Given the description of an element on the screen output the (x, y) to click on. 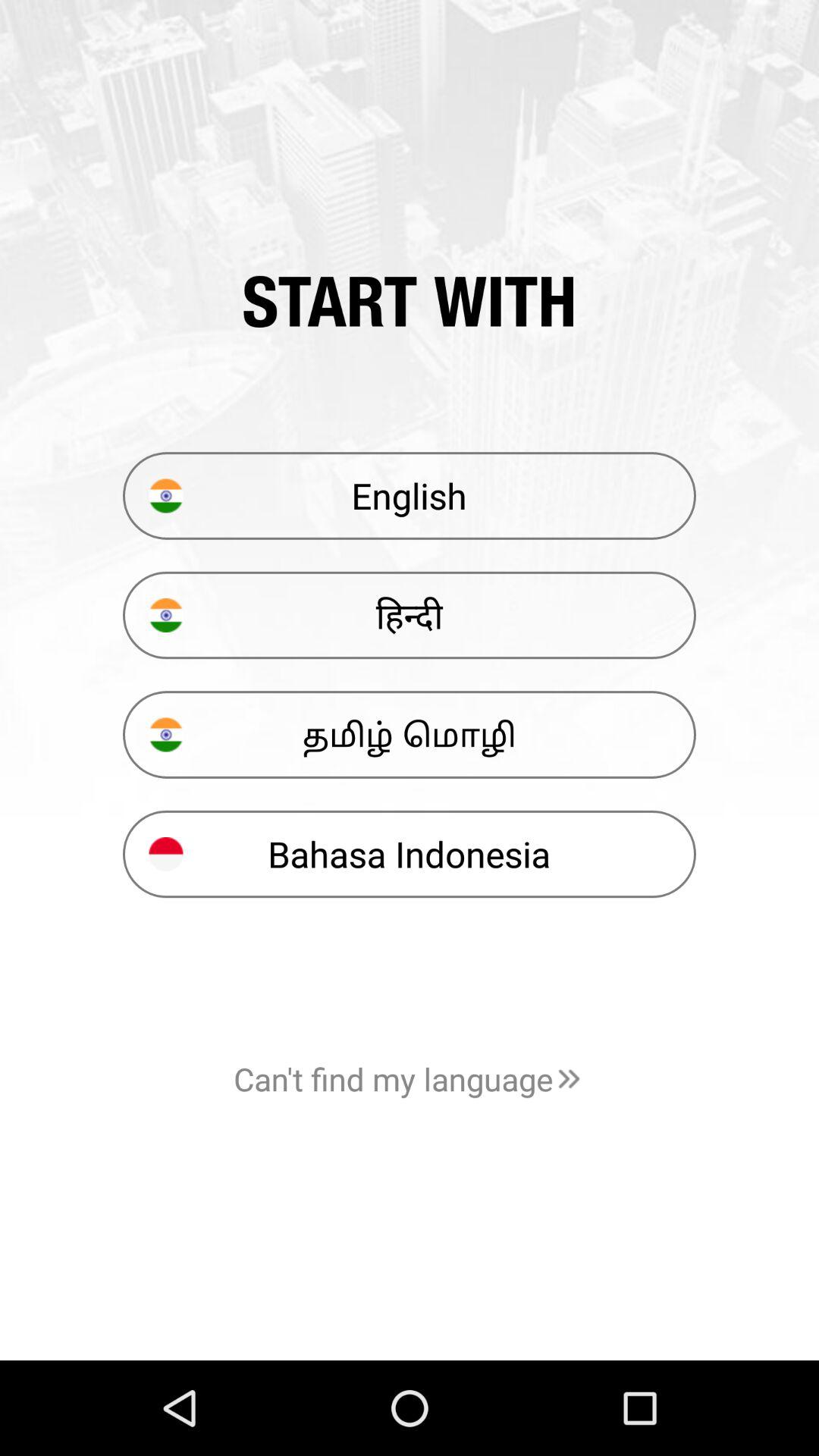
turn on the item below the bahasa indonesia icon (409, 1078)
